Given the description of an element on the screen output the (x, y) to click on. 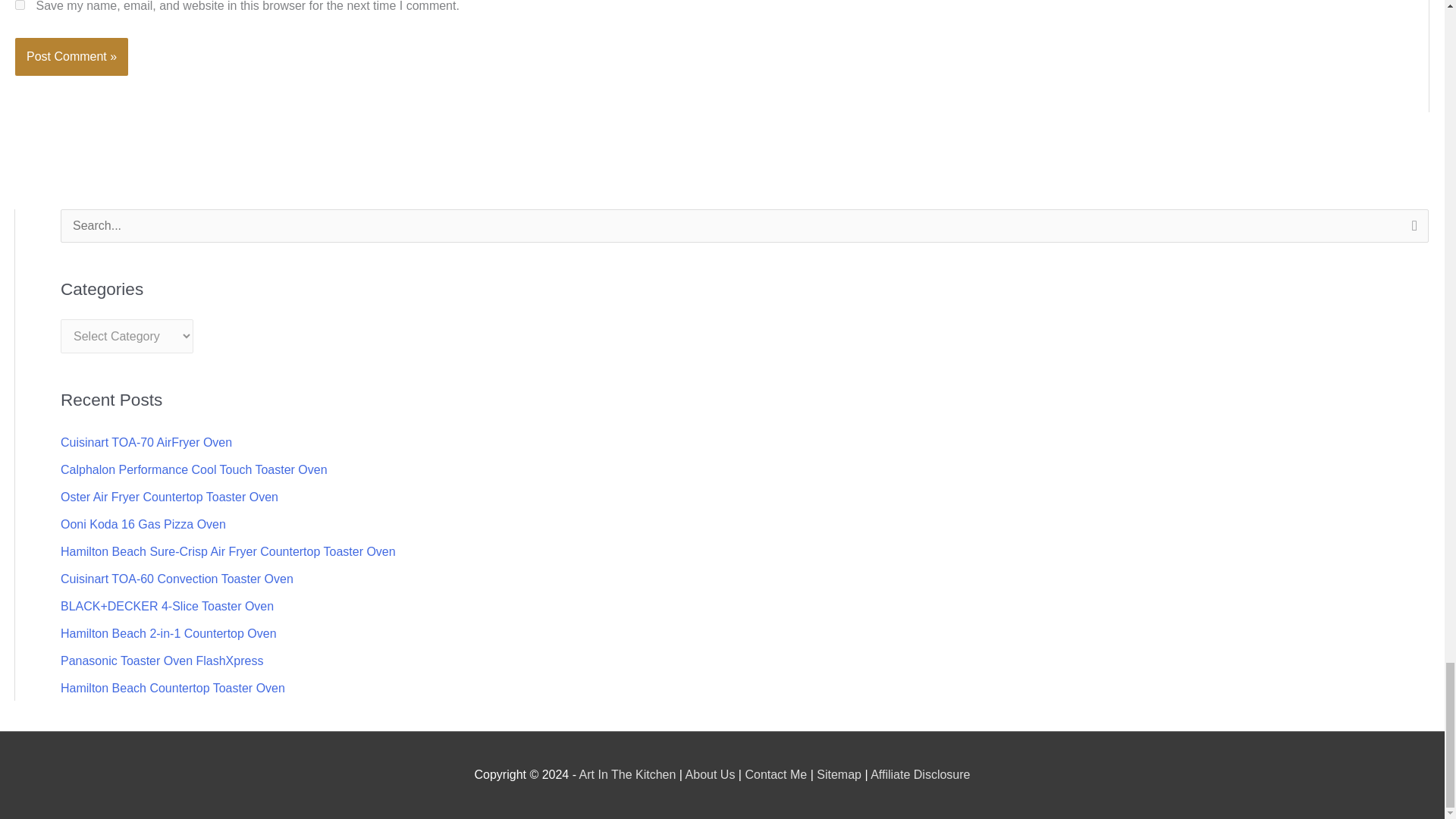
Oster Air Fryer Countertop Toaster Oven (169, 496)
Calphalon Performance Cool Touch Toaster Oven (194, 469)
yes (19, 4)
Cuisinart TOA-70 AirFryer Oven (146, 441)
